Given the description of an element on the screen output the (x, y) to click on. 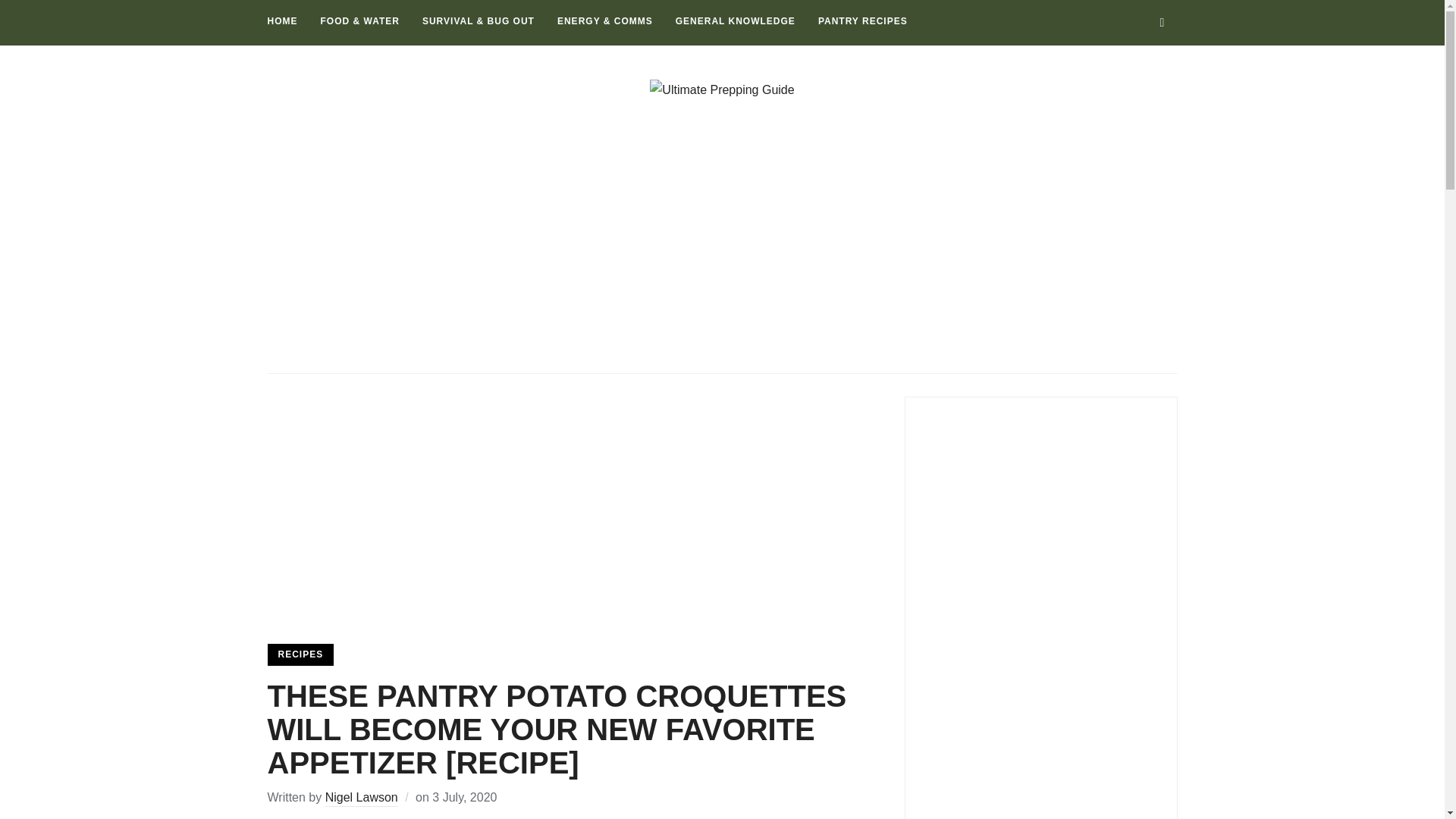
HOME (281, 21)
Posts by Nigel Lawson (360, 798)
Search (1161, 22)
GENERAL KNOWLEDGE (734, 21)
RECIPES (299, 654)
Nigel Lawson (360, 798)
PANTRY RECIPES (862, 21)
